Given the description of an element on the screen output the (x, y) to click on. 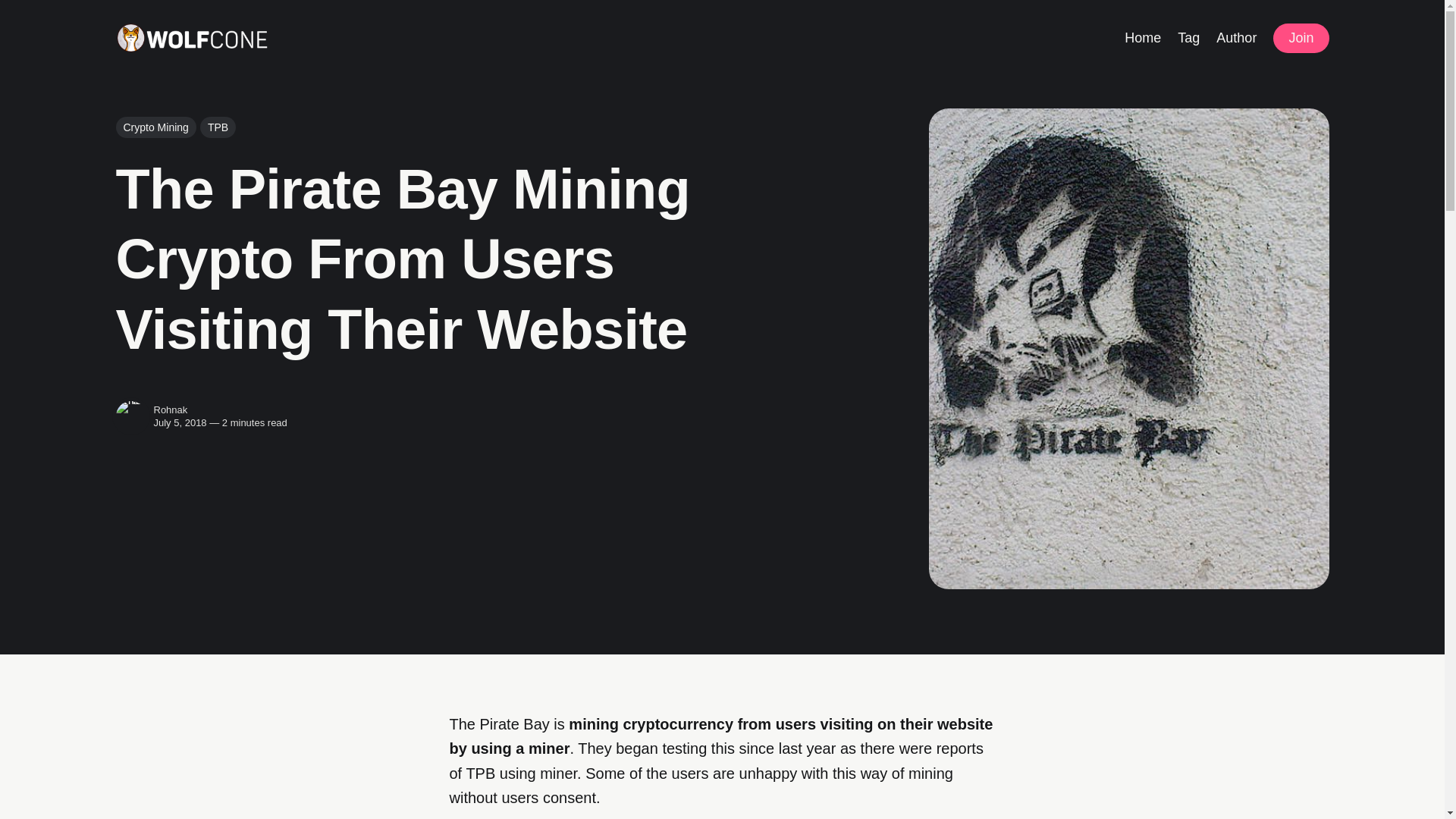
TPB (217, 127)
Rohnak (169, 409)
Rohnak (130, 416)
Author (1235, 37)
Crypto Mining (155, 127)
Home (1142, 37)
Tag (1188, 37)
Join (1299, 37)
